Given the description of an element on the screen output the (x, y) to click on. 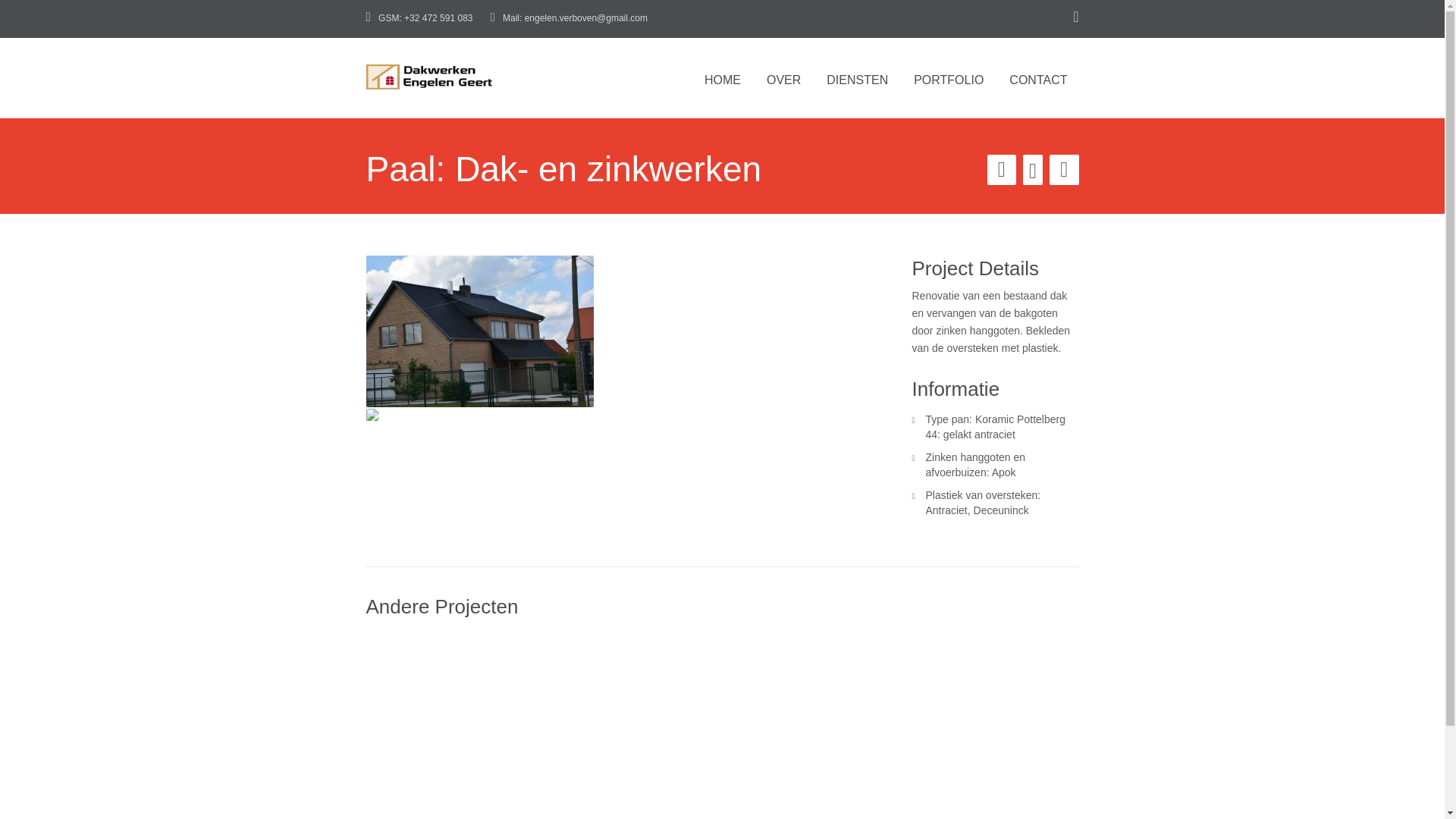
Mail: engelen.verboven@gmail.com Element type: text (568, 17)
Type pan: Koramic Pottelberg 44: gelakt antraciet Element type: text (994, 426)
PORTFOLIO Element type: text (948, 76)
CONTACT Element type: text (1037, 76)
DIENSTEN Element type: text (857, 76)
GSM: +32 472 591 083 Element type: text (418, 17)
Zinken hanggoten en afvoerbuizen: Apok Element type: text (975, 464)
HOME Element type: text (722, 76)
OVER Element type: text (783, 76)
Plastiek van oversteken: Antraciet, Deceuninck Element type: text (982, 502)
